Given the description of an element on the screen output the (x, y) to click on. 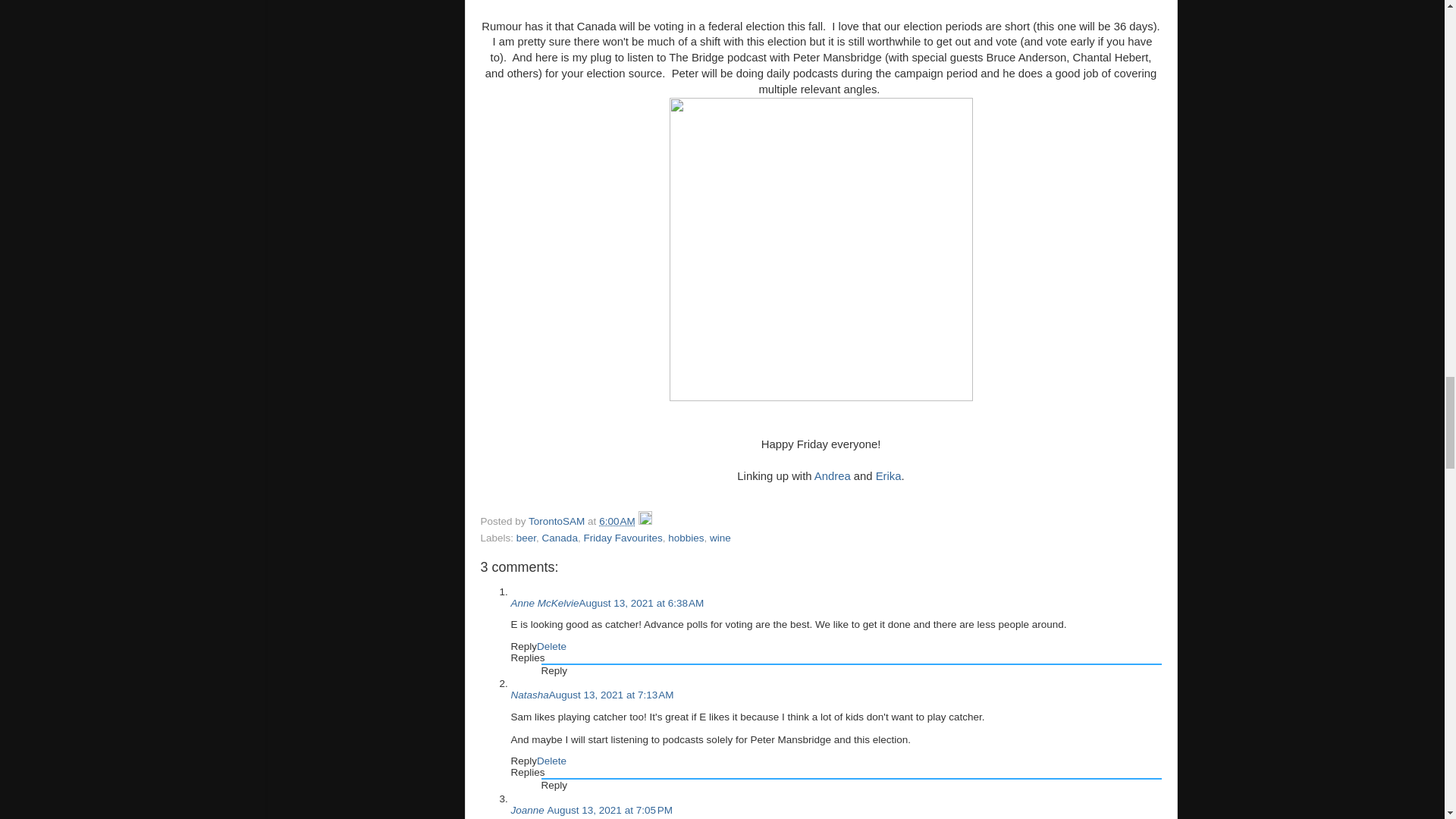
Reply (524, 760)
Replies (527, 657)
beer (525, 537)
TorontoSAM (558, 521)
Natasha (529, 695)
Reply (524, 645)
Delete (551, 645)
wine (720, 537)
Erika (888, 476)
Replies (527, 772)
Anne McKelvie (545, 603)
Delete (551, 760)
